Given the description of an element on the screen output the (x, y) to click on. 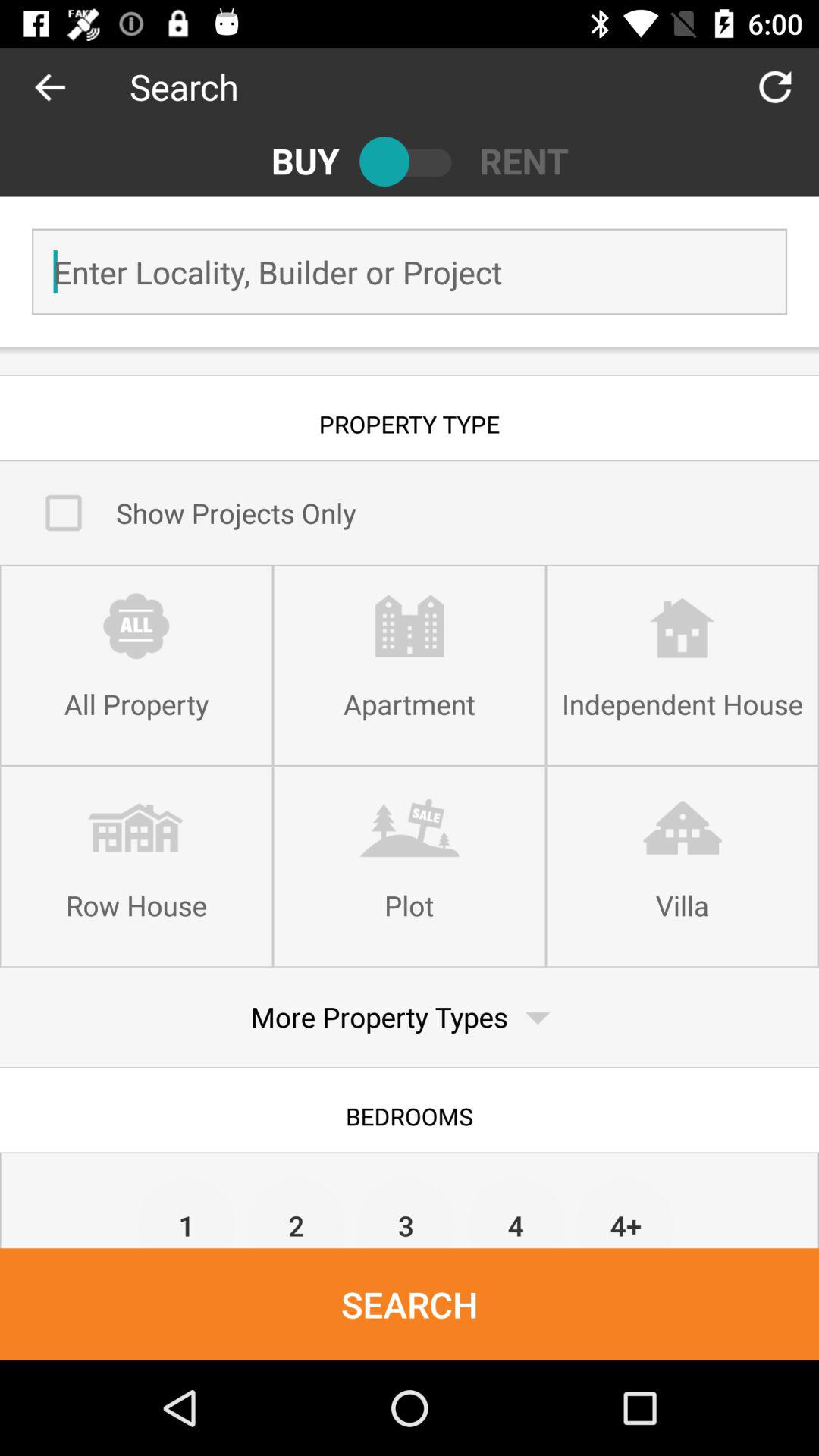
to reload the page (775, 86)
